Given the description of an element on the screen output the (x, y) to click on. 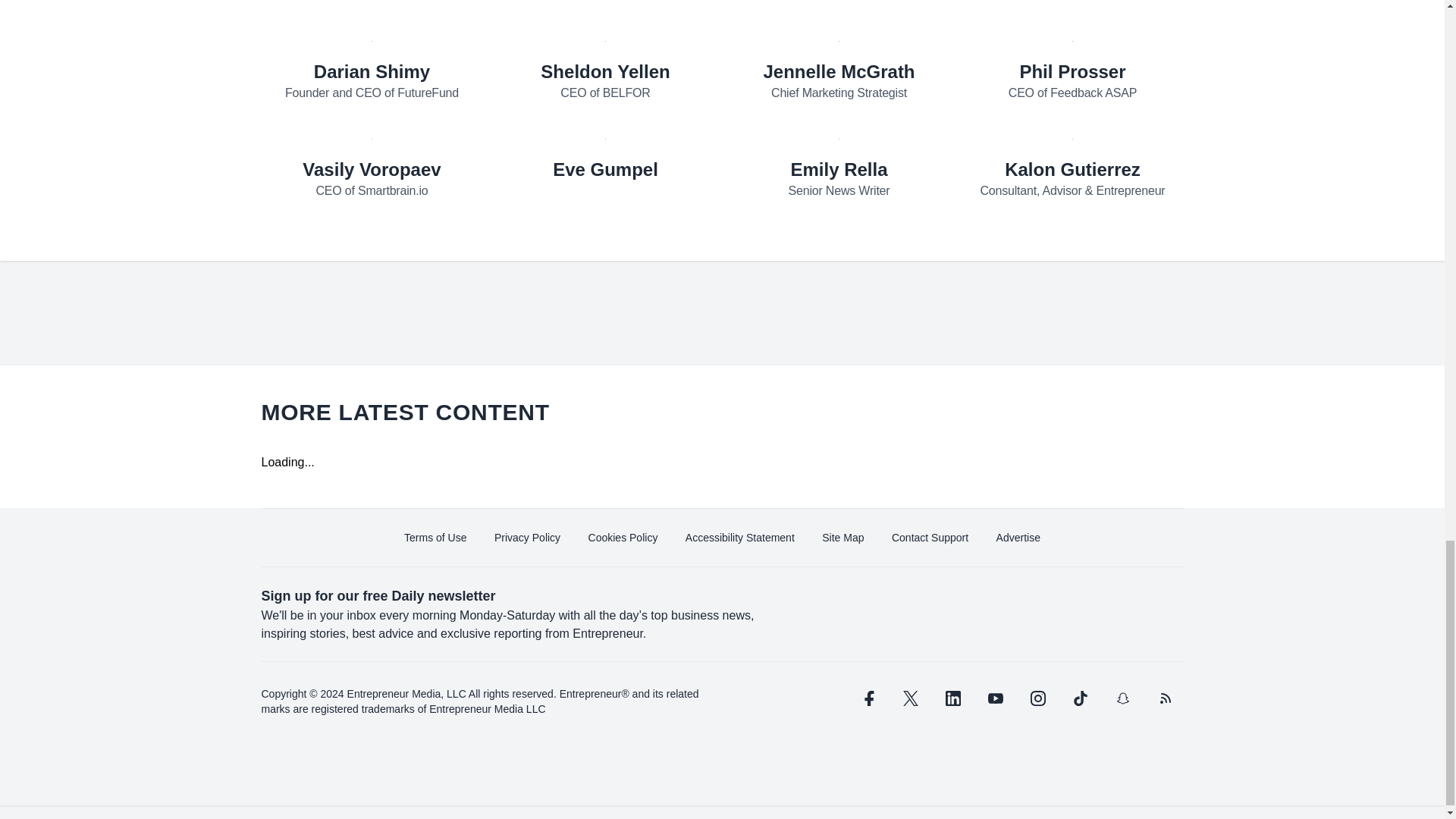
instagram (1037, 698)
twitter (909, 698)
youtube (994, 698)
facebook (866, 698)
linkedin (952, 698)
